Given the description of an element on the screen output the (x, y) to click on. 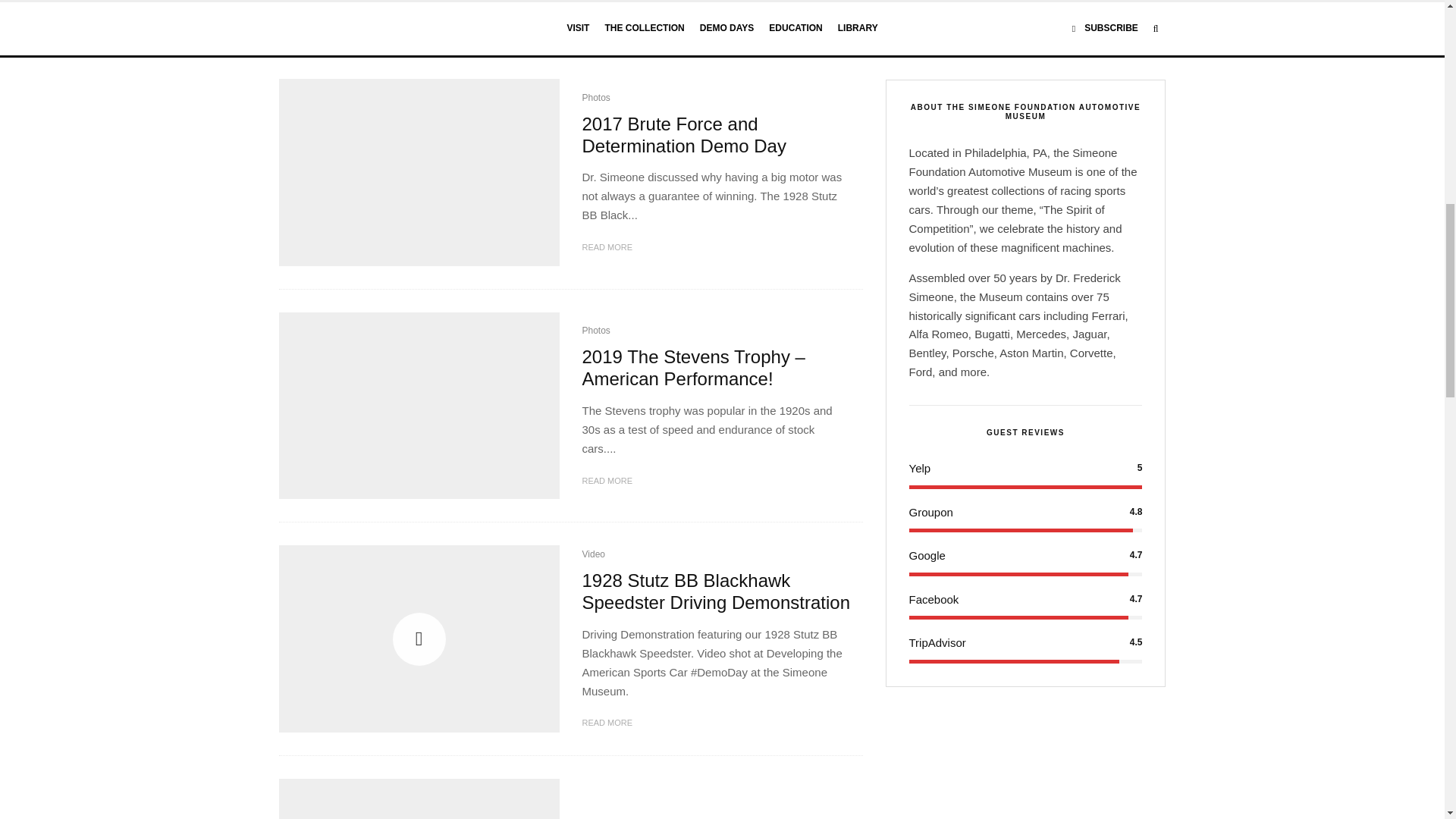
READ MORE (607, 246)
2017 Brute Force and Determination Demo Day (716, 135)
READ MORE (607, 4)
Photos (596, 98)
Photos (596, 331)
